Given the description of an element on the screen output the (x, y) to click on. 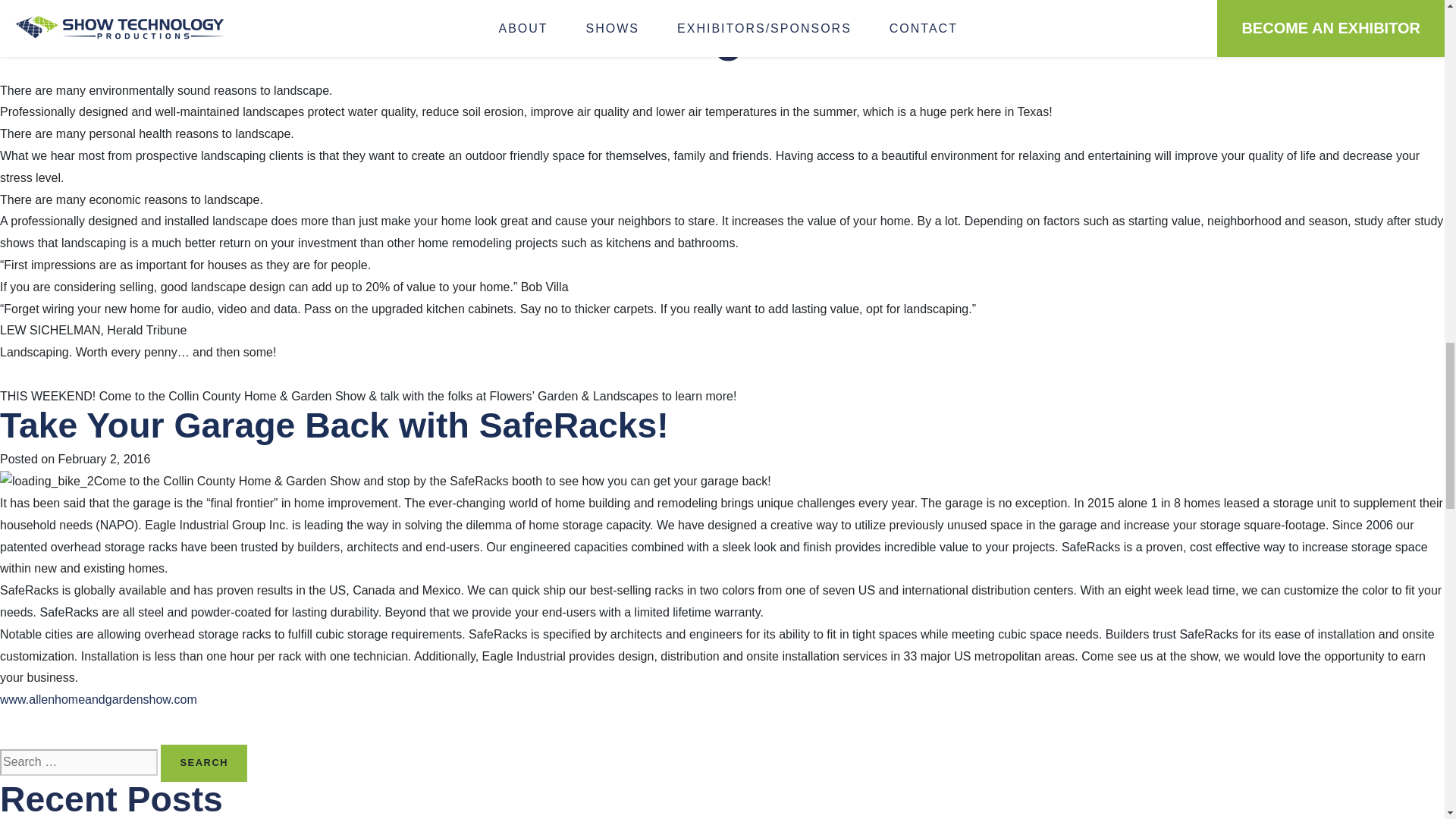
Search (203, 763)
Search (203, 763)
Take Your Garage Back with SafeRacks! (334, 425)
Search (203, 763)
www.allenhomeandgardenshow.com (98, 698)
